Given the description of an element on the screen output the (x, y) to click on. 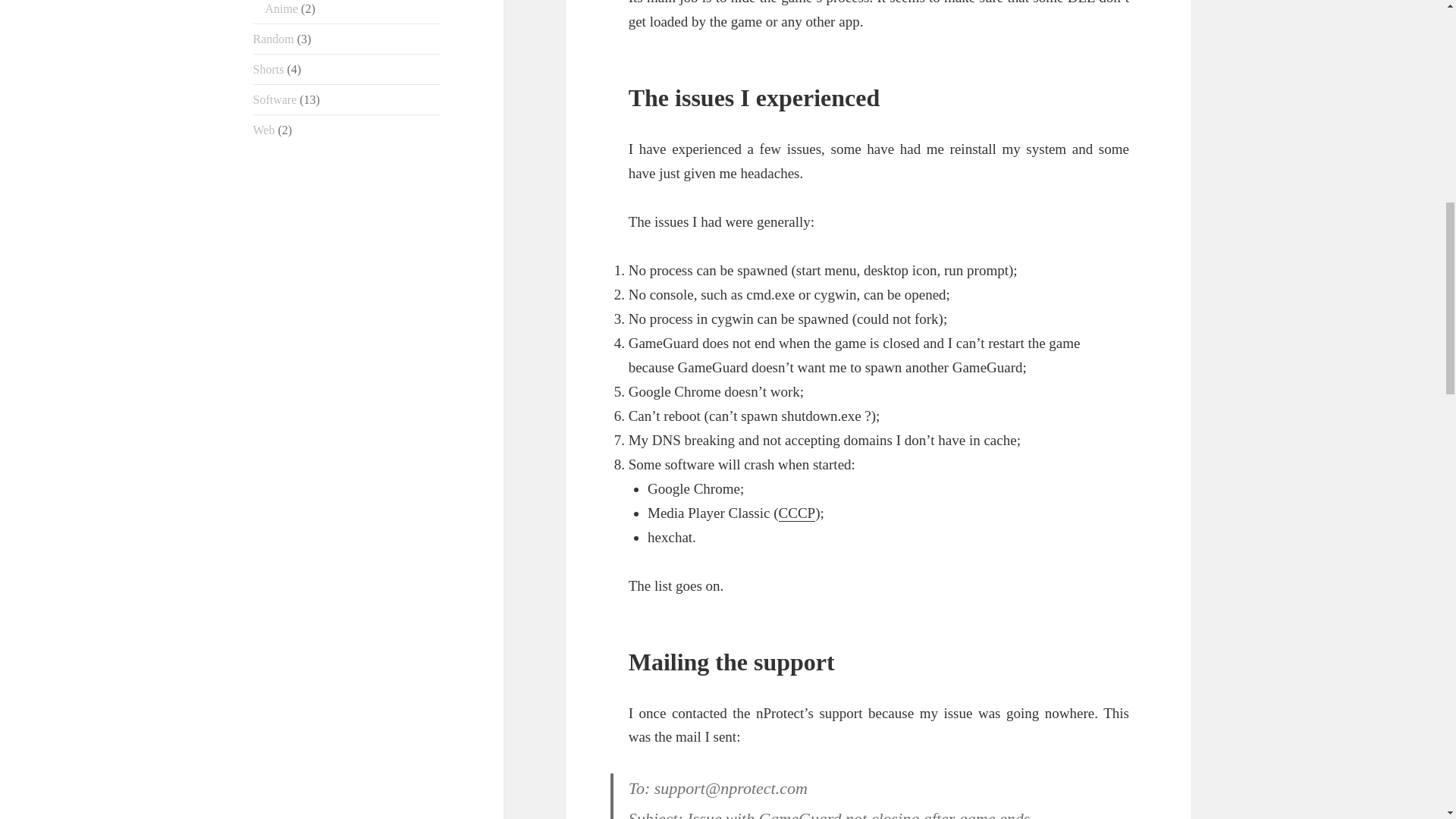
Shorts (268, 69)
Random (273, 38)
CCCP (796, 513)
Web (264, 129)
Software (275, 99)
Anime (281, 8)
